Given the description of an element on the screen output the (x, y) to click on. 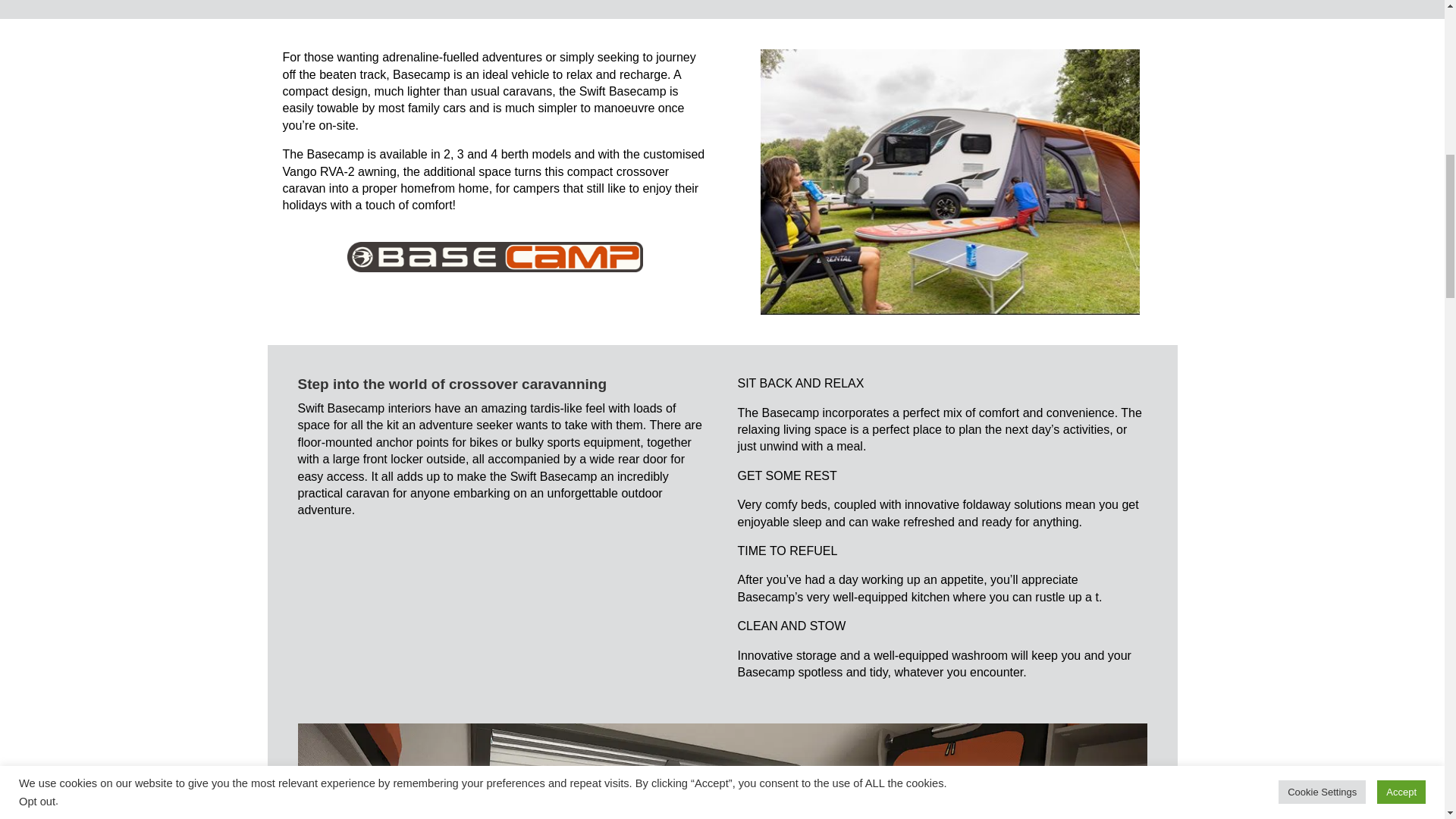
Basecamp-RGB - Davan Caravans (495, 256)
basecamp-inbetweener3 - Davan Caravans (949, 181)
